Given the description of an element on the screen output the (x, y) to click on. 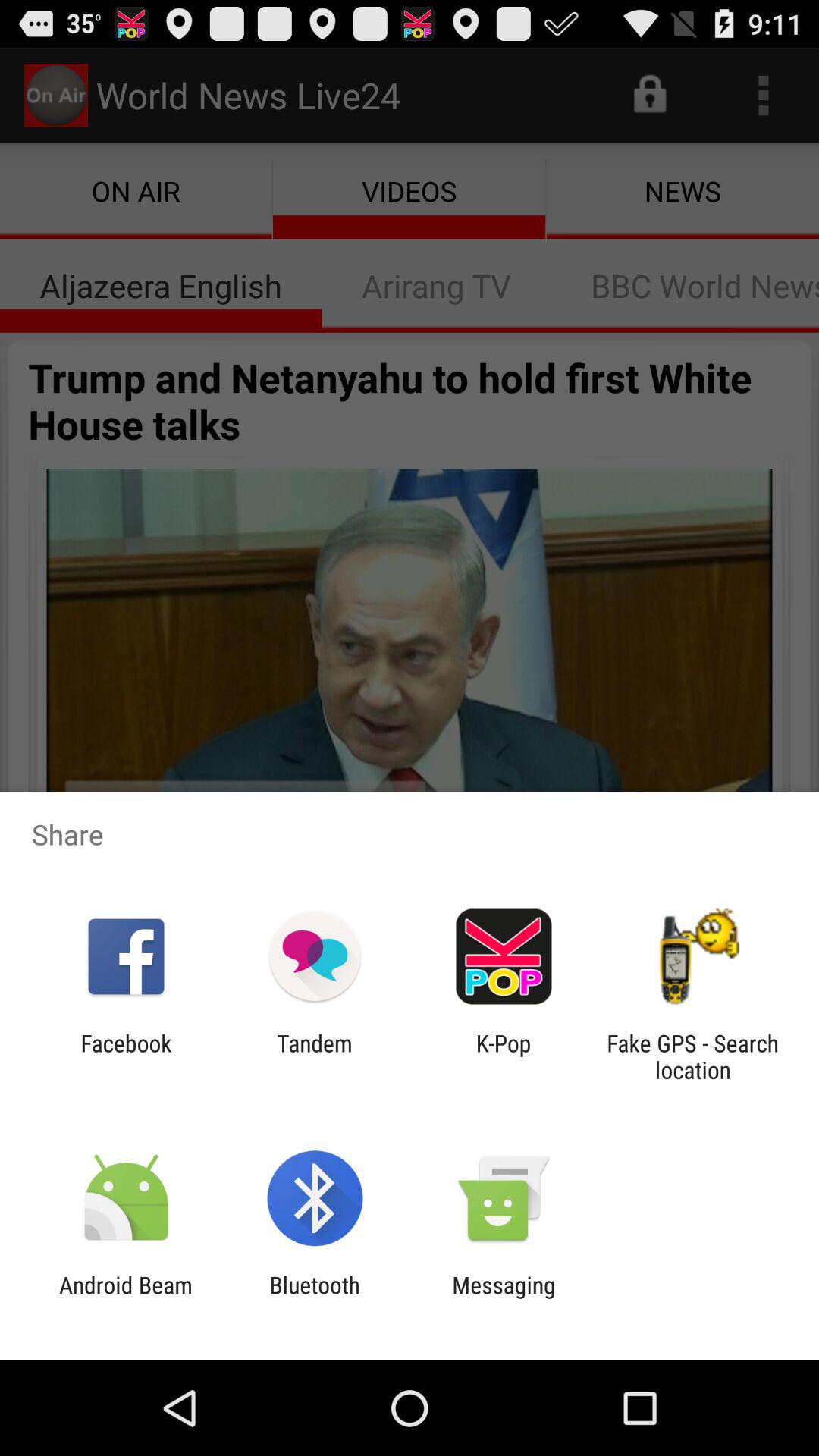
choose app to the right of android beam (314, 1298)
